Given the description of an element on the screen output the (x, y) to click on. 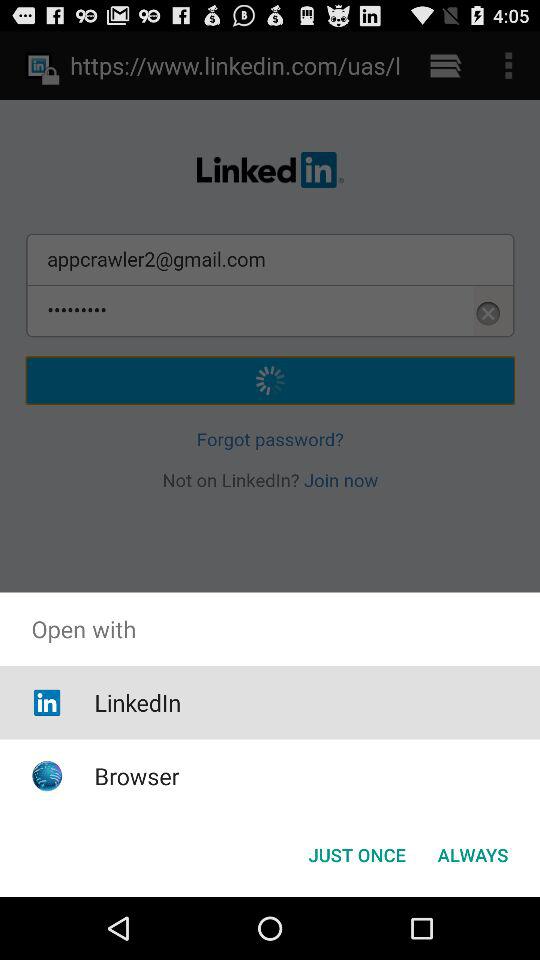
tap always (472, 854)
